Given the description of an element on the screen output the (x, y) to click on. 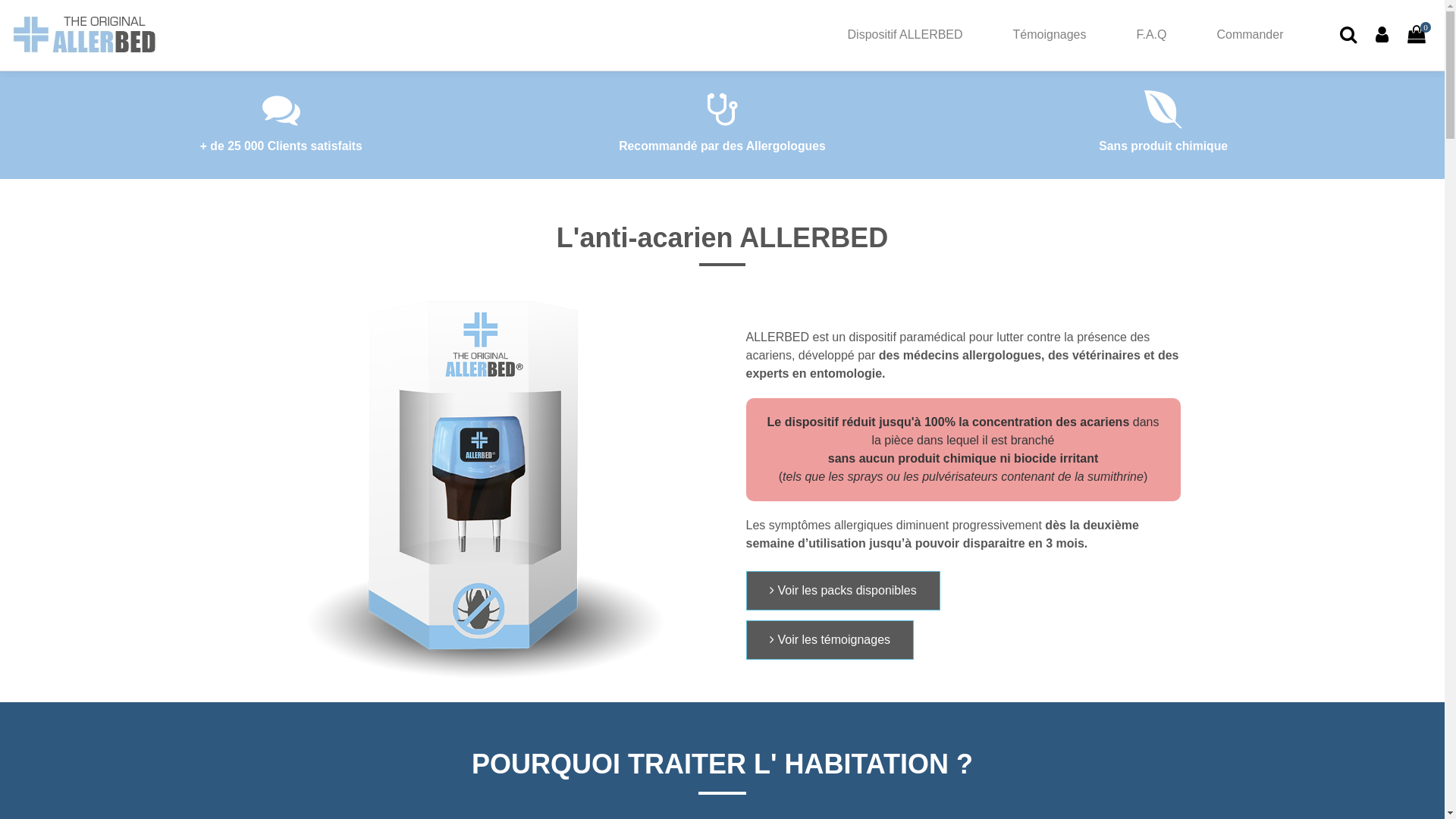
Voir les packs disponibles Element type: text (843, 590)
F.A.Q Element type: text (1150, 35)
Identifiez-vous Element type: hover (1381, 35)
Dispositif ALLERBED Element type: text (905, 35)
0 Element type: text (1415, 35)
Commander Element type: text (1249, 35)
